Given the description of an element on the screen output the (x, y) to click on. 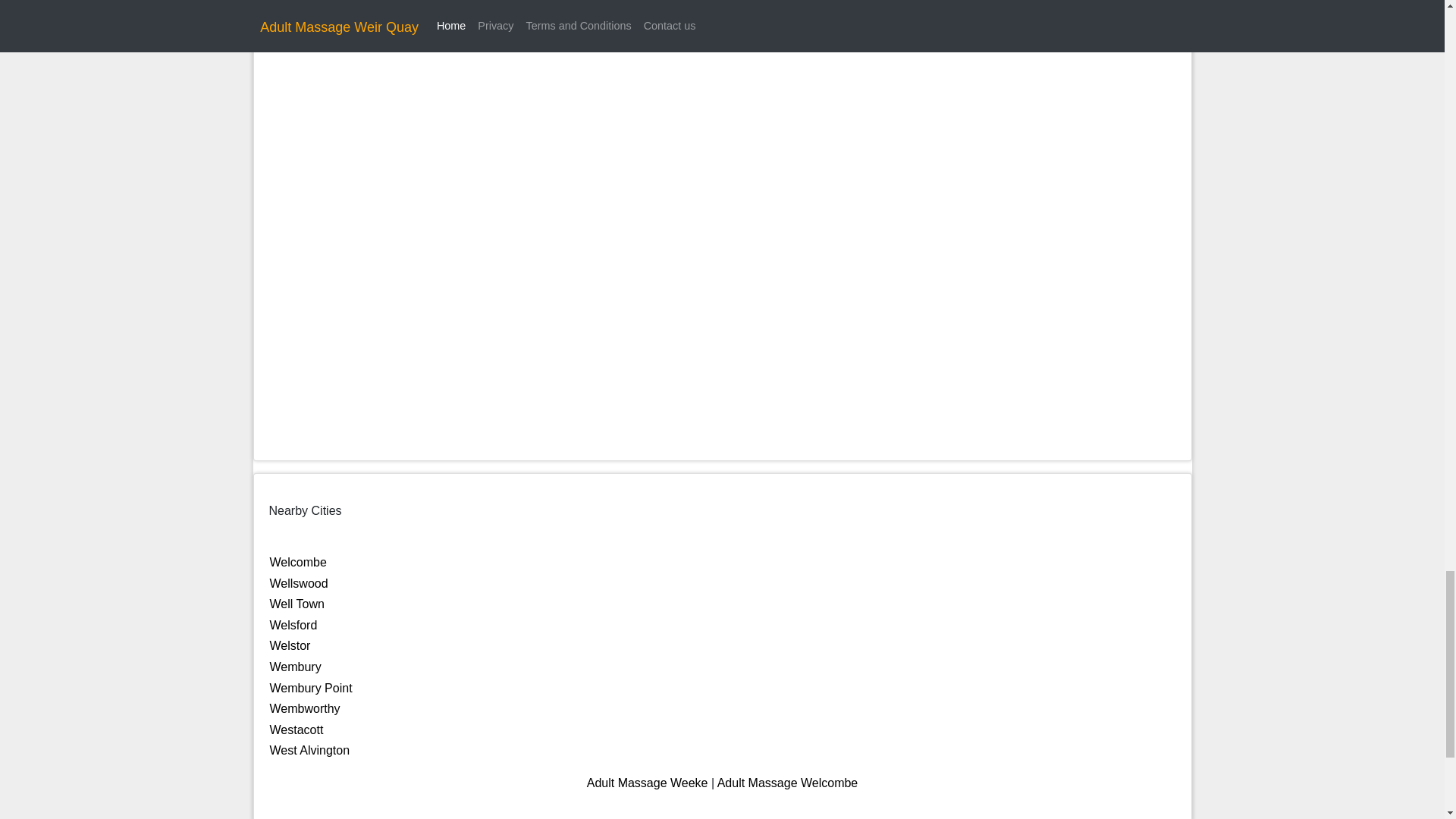
Wembury Point (310, 687)
West Alvington (309, 749)
Wembury (295, 666)
Welsford (293, 625)
Welstor (290, 645)
Wellswood (299, 583)
Welcombe (297, 562)
Wembworthy (304, 707)
Well Town (296, 603)
Adult Massage Welcombe (788, 782)
Adult Massage Weeke (646, 782)
Westacott (296, 729)
